Given the description of an element on the screen output the (x, y) to click on. 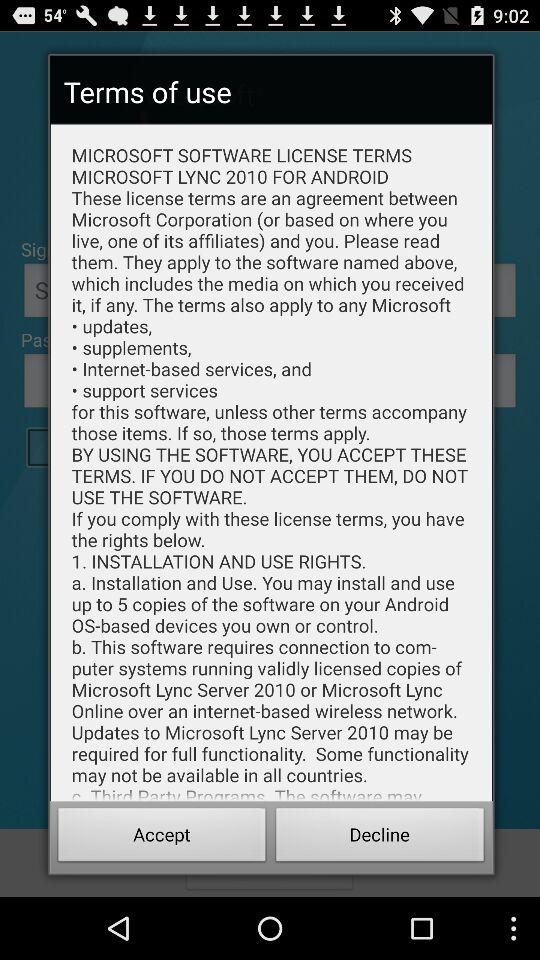
click item next to the decline button (162, 837)
